Given the description of an element on the screen output the (x, y) to click on. 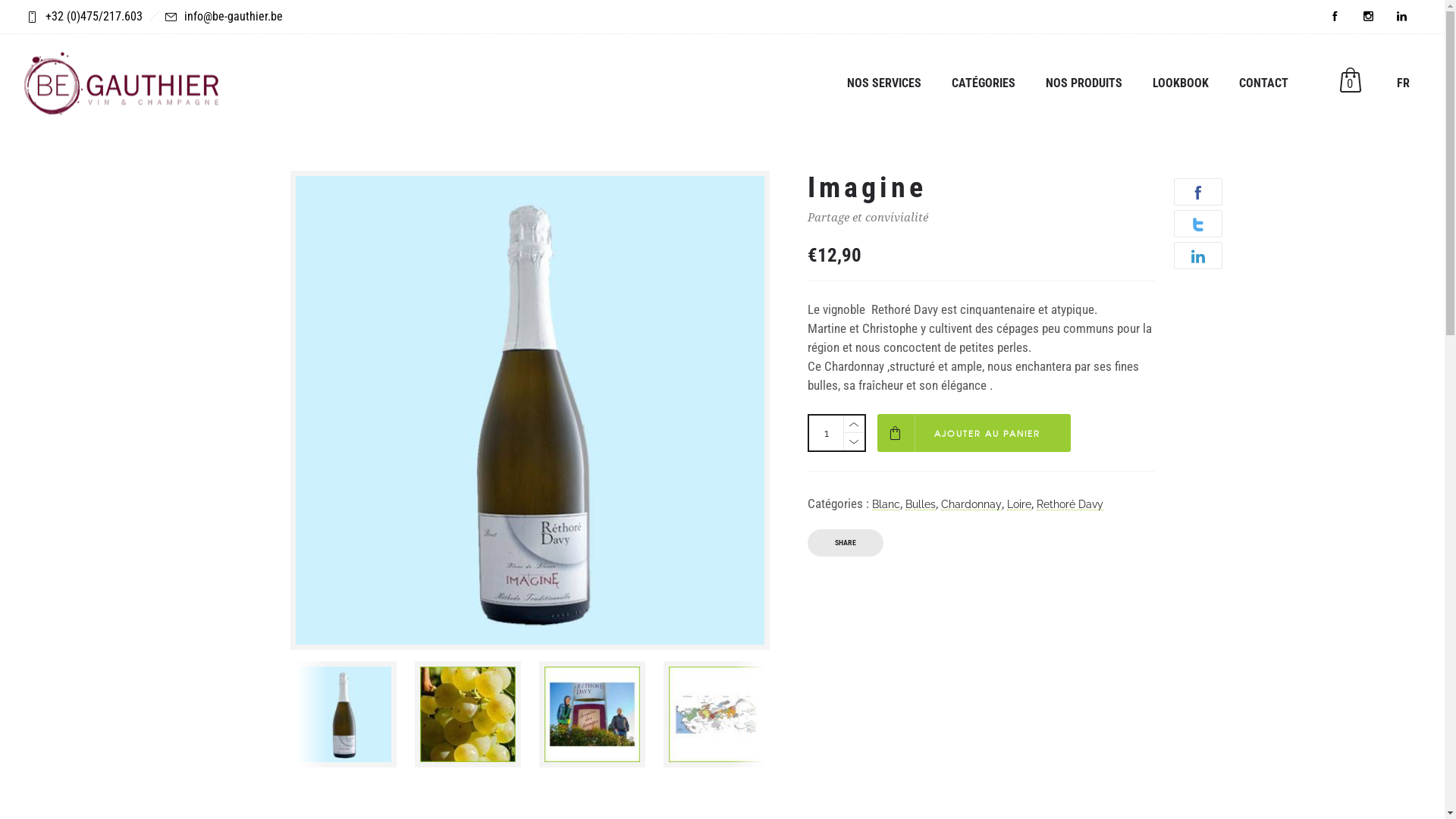
davy Element type: hover (591, 714)
NOS PRODUITS Element type: text (1083, 83)
Bulles Element type: text (920, 504)
0 Element type: text (1349, 83)
LinkedIN Element type: hover (1401, 16)
carteloire Element type: hover (715, 714)
Blanc Element type: text (886, 504)
AJOUTER AU PANIER Element type: text (973, 432)
LOOKBOOK Element type: text (1180, 83)
Loire Element type: text (1019, 504)
NOS SERVICES Element type: text (883, 83)
pinotgris Element type: hover (467, 714)
CONTACT Element type: text (1263, 83)
Boutielle-blc-imagine Element type: hover (529, 409)
Facebook Element type: hover (1334, 16)
Chardonnay Element type: text (971, 504)
Boutielle-blc-imagine Element type: hover (342, 714)
Instagram Element type: hover (1367, 16)
